Given the description of an element on the screen output the (x, y) to click on. 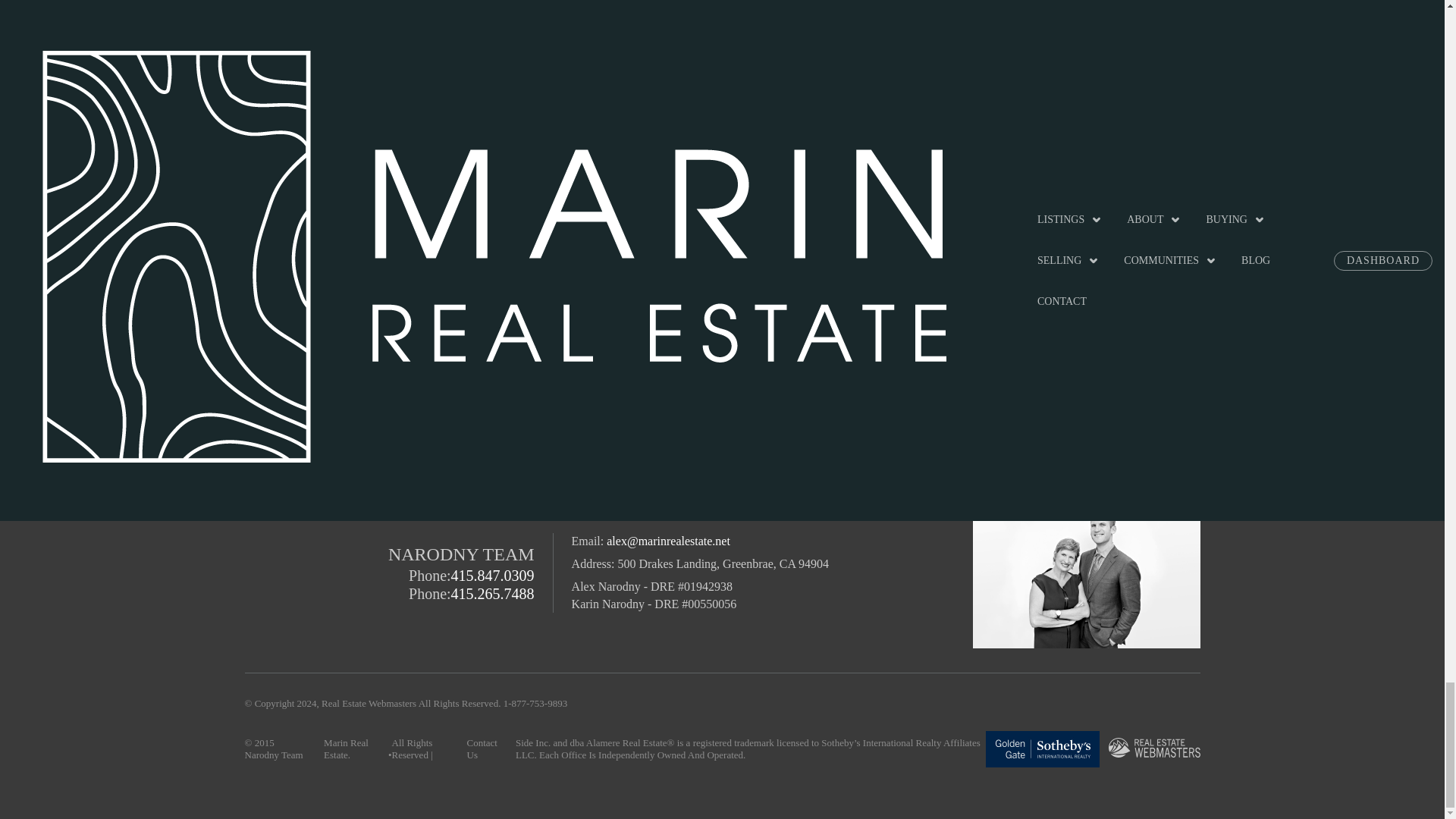
Real Estate Webmasters Logo (1153, 747)
LinkedIn Icon (1074, 409)
Real Estate Webmasters (1153, 748)
Facebook Icon (1048, 409)
Twitter Icon (1020, 409)
